Given the description of an element on the screen output the (x, y) to click on. 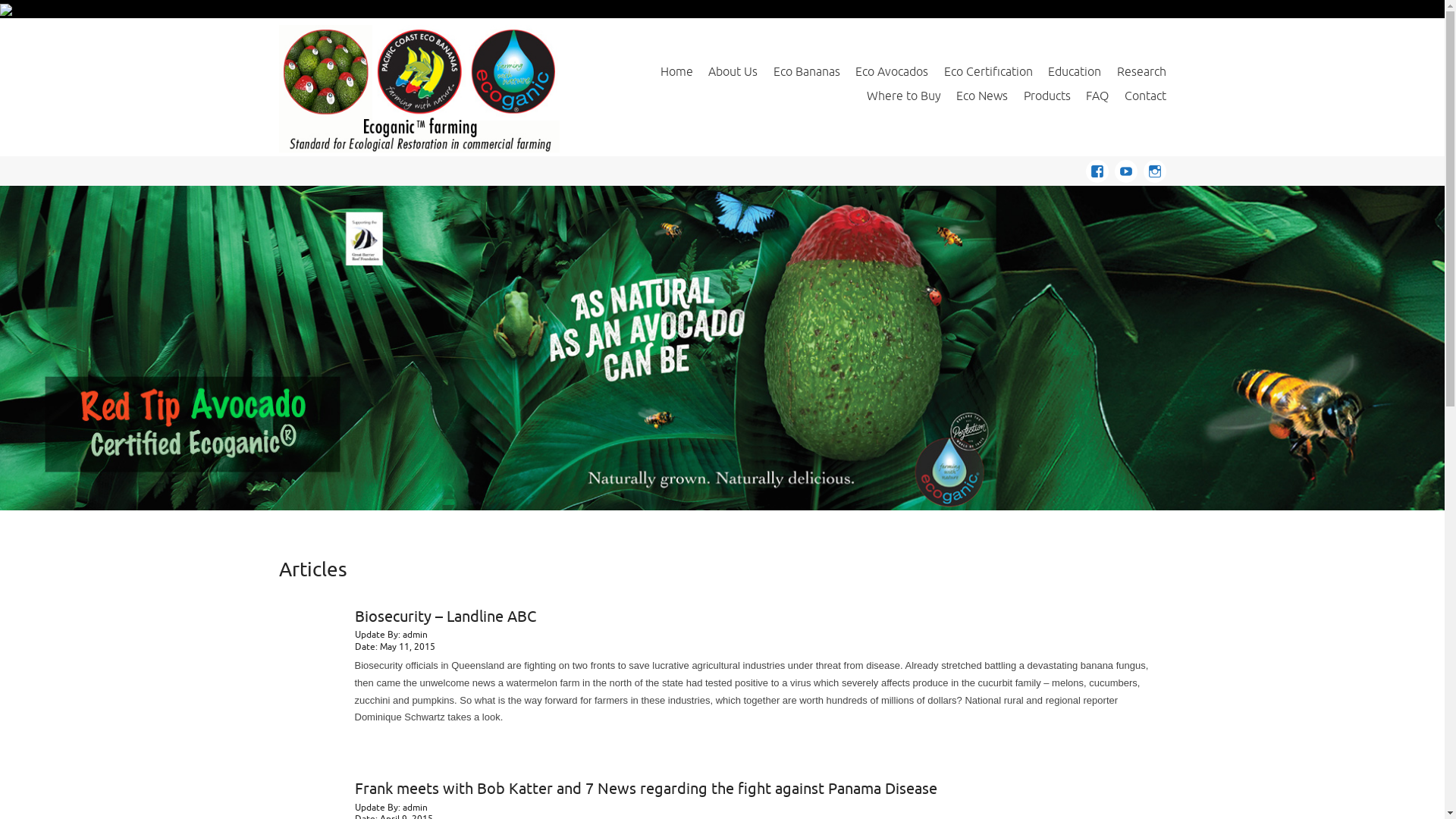
Eco Avocados Element type: text (891, 71)
Eco News Element type: text (981, 95)
Youtube Element type: hover (1128, 168)
Eco Certification Element type: text (988, 71)
FAQ Element type: text (1096, 95)
Education Element type: text (1074, 71)
Products Element type: text (1046, 95)
Instagram Element type: hover (1154, 168)
Facebook Element type: hover (1099, 168)
Contact Element type: text (1144, 95)
About Us Element type: text (732, 71)
Eco Bananas Element type: text (806, 71)
Creature friendly farming Element type: hover (722, 348)
Home Element type: text (676, 71)
Where to Buy Element type: text (903, 95)
Research Element type: text (1140, 71)
